Given the description of an element on the screen output the (x, y) to click on. 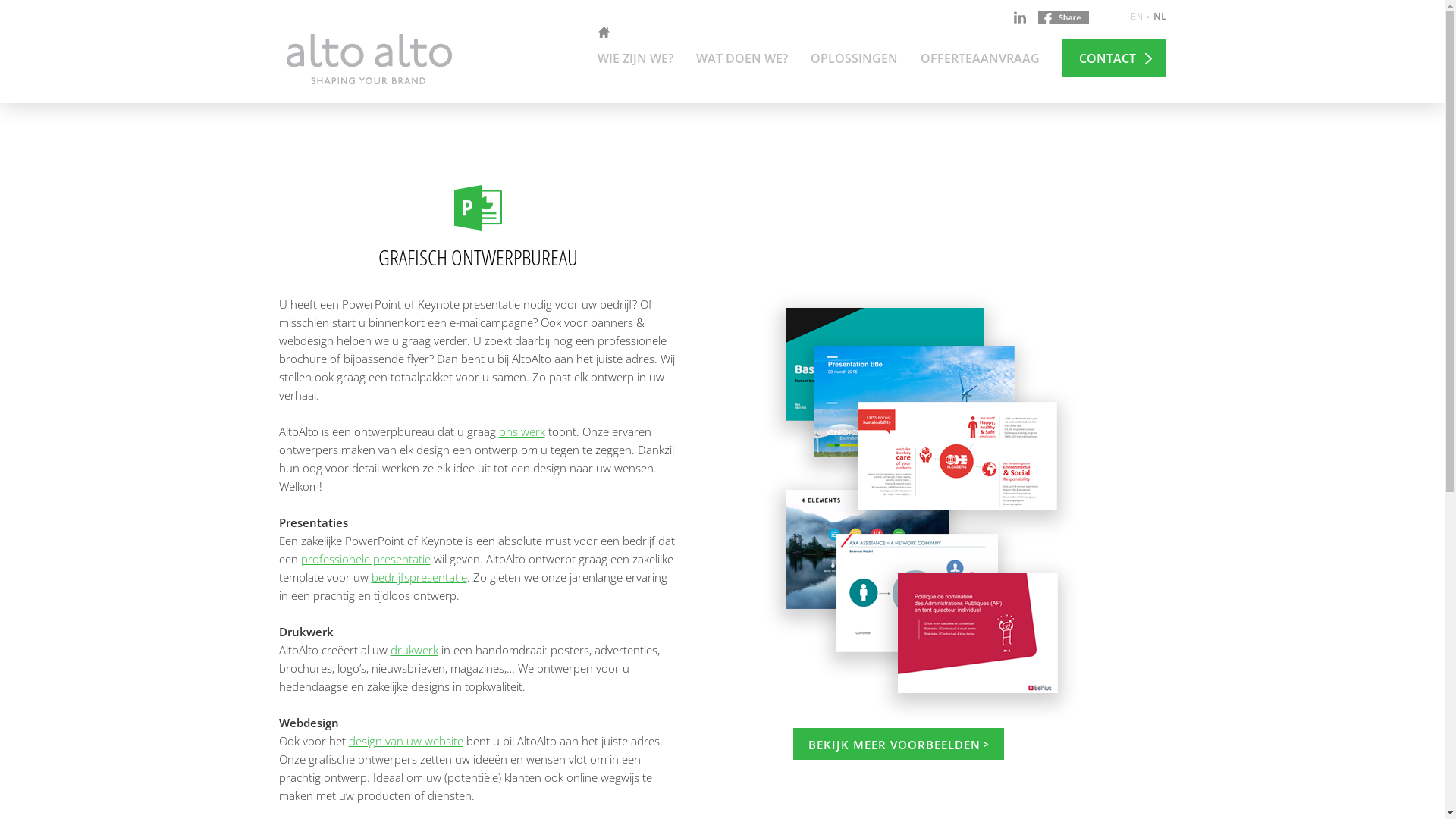
WIE ZIJN WE? Element type: text (634, 59)
EN Element type: text (1135, 16)
design van uw website Element type: text (405, 740)
Go to main navigation Element type: text (722, 105)
HOME Element type: text (603, 32)
bedrijfspresentatie Element type: text (419, 576)
professionele presentatie Element type: text (364, 558)
OPLOSSINGEN Element type: text (853, 59)
Grafisch ontwerpbureau Element type: text (367, 157)
ons werk Element type: text (521, 431)
NL Element type: text (1158, 16)
Share AltoAlto On Facebook Element type: text (1062, 17)
WAT DOEN WE? Element type: text (741, 59)
drukwerk Element type: text (413, 649)
Home Element type: text (292, 157)
Share AltoAlto On LinedIn Element type: text (1019, 17)
OFFERTEAANVRAAG Element type: text (980, 59)
BEKIJK MEER VOORBEELDEN Element type: text (898, 743)
ALTOALTO. SHAPING YOUR BRAND Element type: text (369, 58)
CONTACT Element type: text (1113, 57)
